Given the description of an element on the screen output the (x, y) to click on. 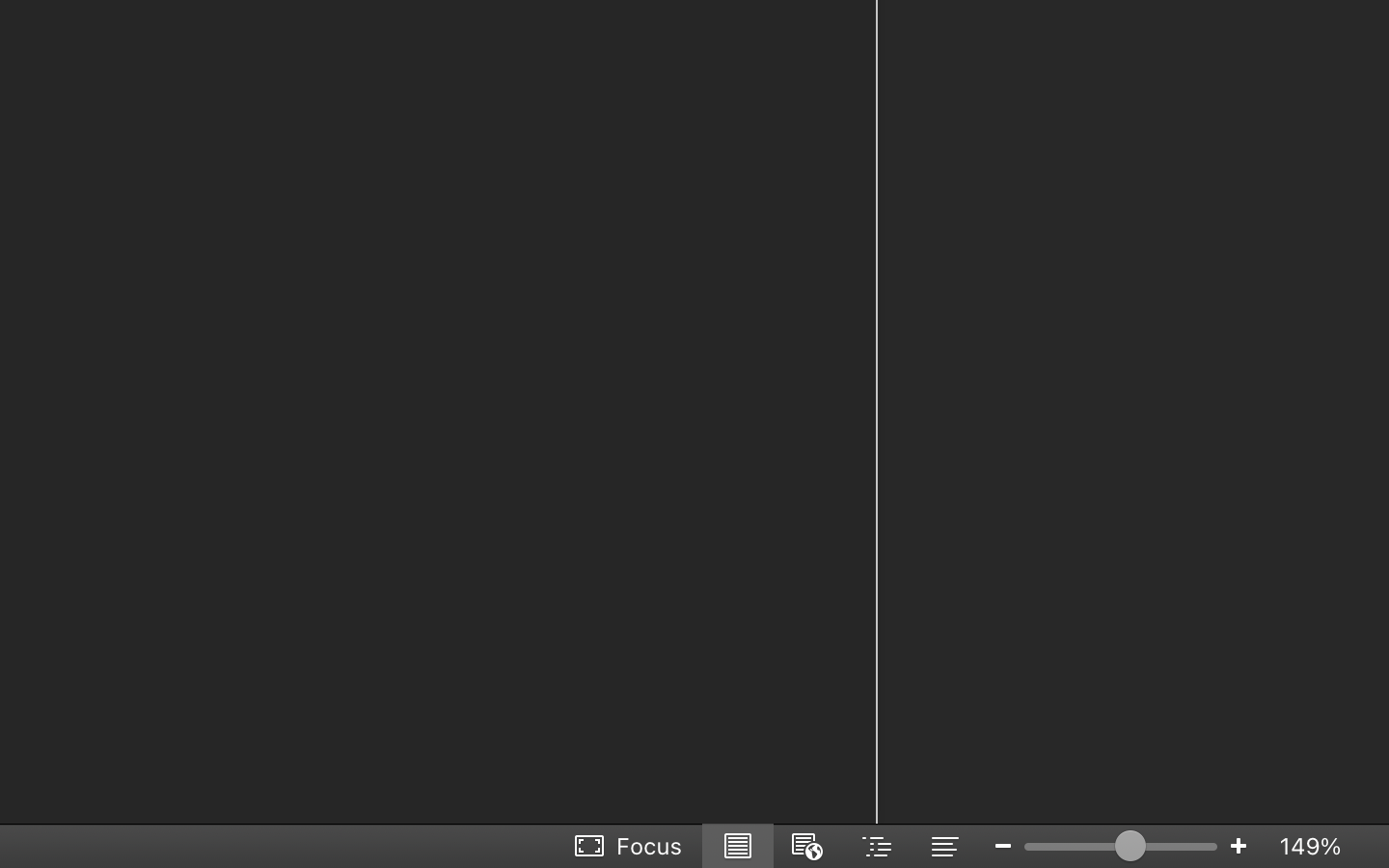
0 Element type: AXCheckBox (629, 845)
1123.0 Element type: AXSlider (1120, 845)
